Given the description of an element on the screen output the (x, y) to click on. 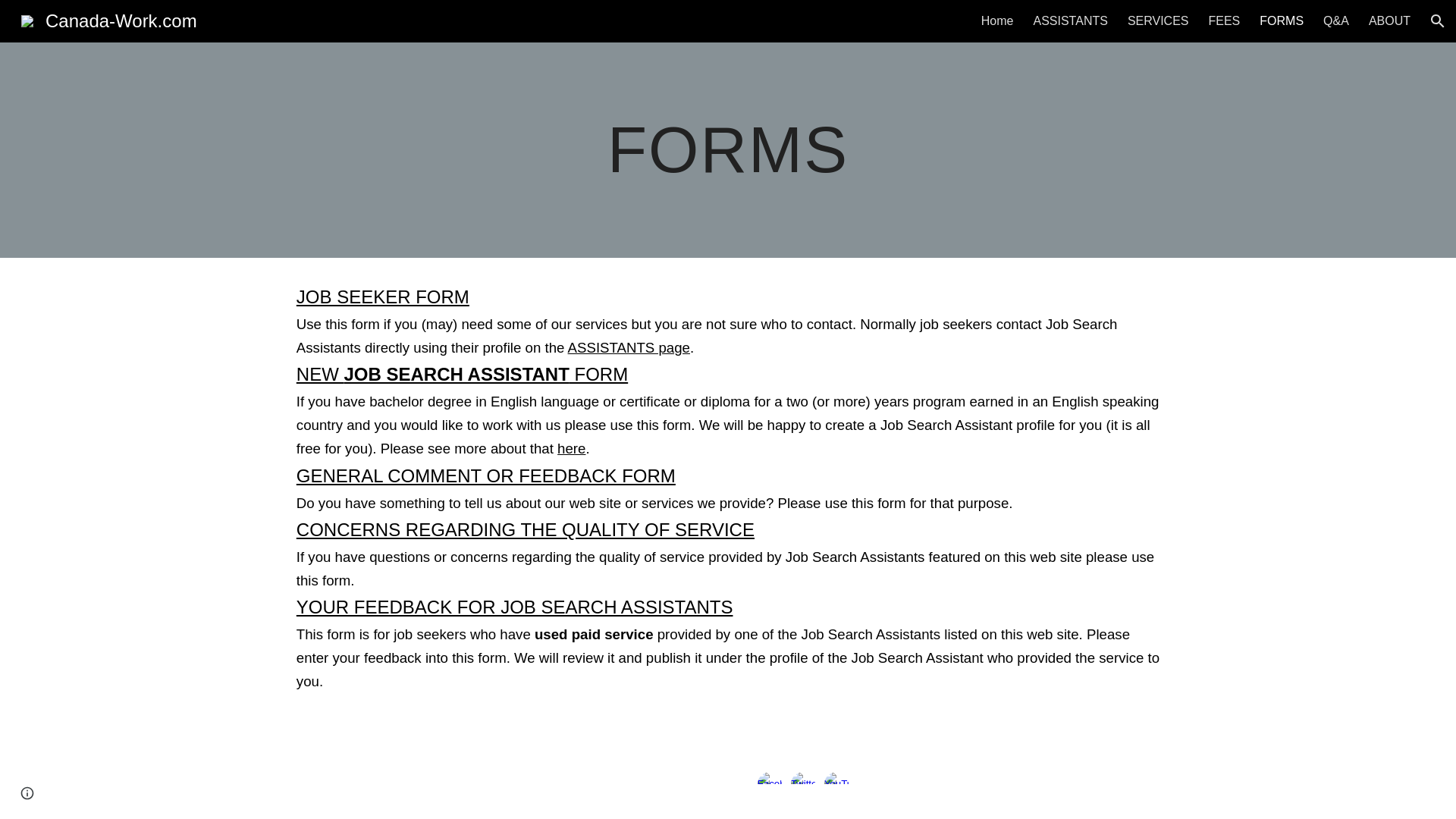
JOB SEEKER FORM (382, 298)
GENERAL COMMENT OR FEEDBACK FORM (486, 477)
ASSISTANTS (1069, 20)
FEES (1224, 20)
Home (997, 20)
FORMS (1281, 20)
ASSISTANTS page (627, 348)
NEW JOB SEARCH ASSISTANT FORM (462, 376)
Canada-Work.com (108, 19)
YOUR FEEDBACK FOR JOB SEARCH ASSISTANTS (515, 608)
here (569, 449)
CONCERNS REGARDING THE QUALITY OF SERVICE (525, 531)
SERVICES (1157, 20)
ABOUT (1389, 20)
